Given the description of an element on the screen output the (x, y) to click on. 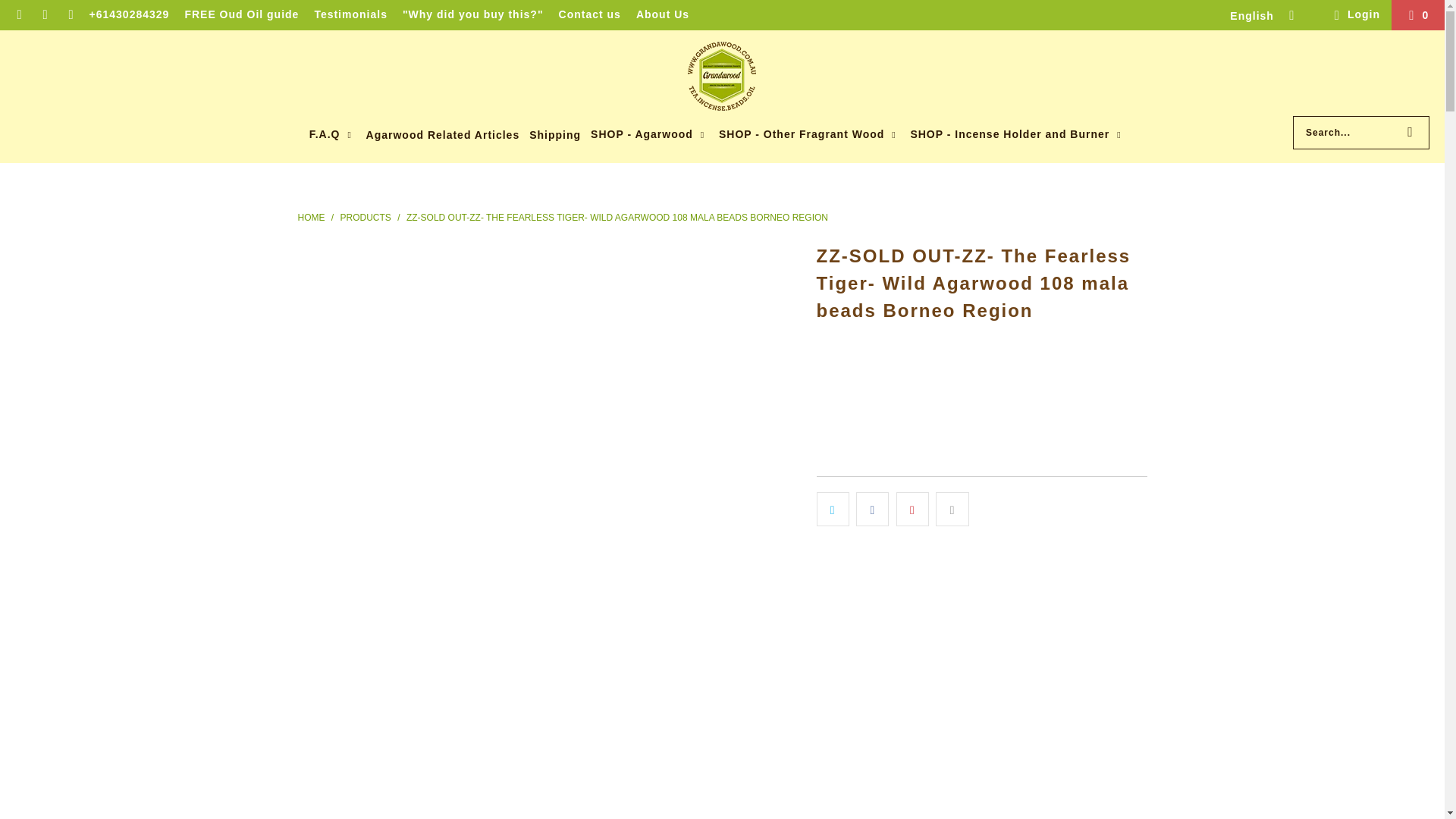
My Account  (1353, 14)
Grandawood- Agarwood (722, 76)
Email this to a friend (952, 509)
Products (367, 217)
Email Grandawood- Agarwood (18, 15)
Grandawood- Agarwood on Facebook (44, 15)
Grandawood- Agarwood (311, 217)
Share this on Pinterest (912, 509)
Share this on Facebook (872, 509)
Grandawood- Agarwood on Instagram (70, 15)
